Given the description of an element on the screen output the (x, y) to click on. 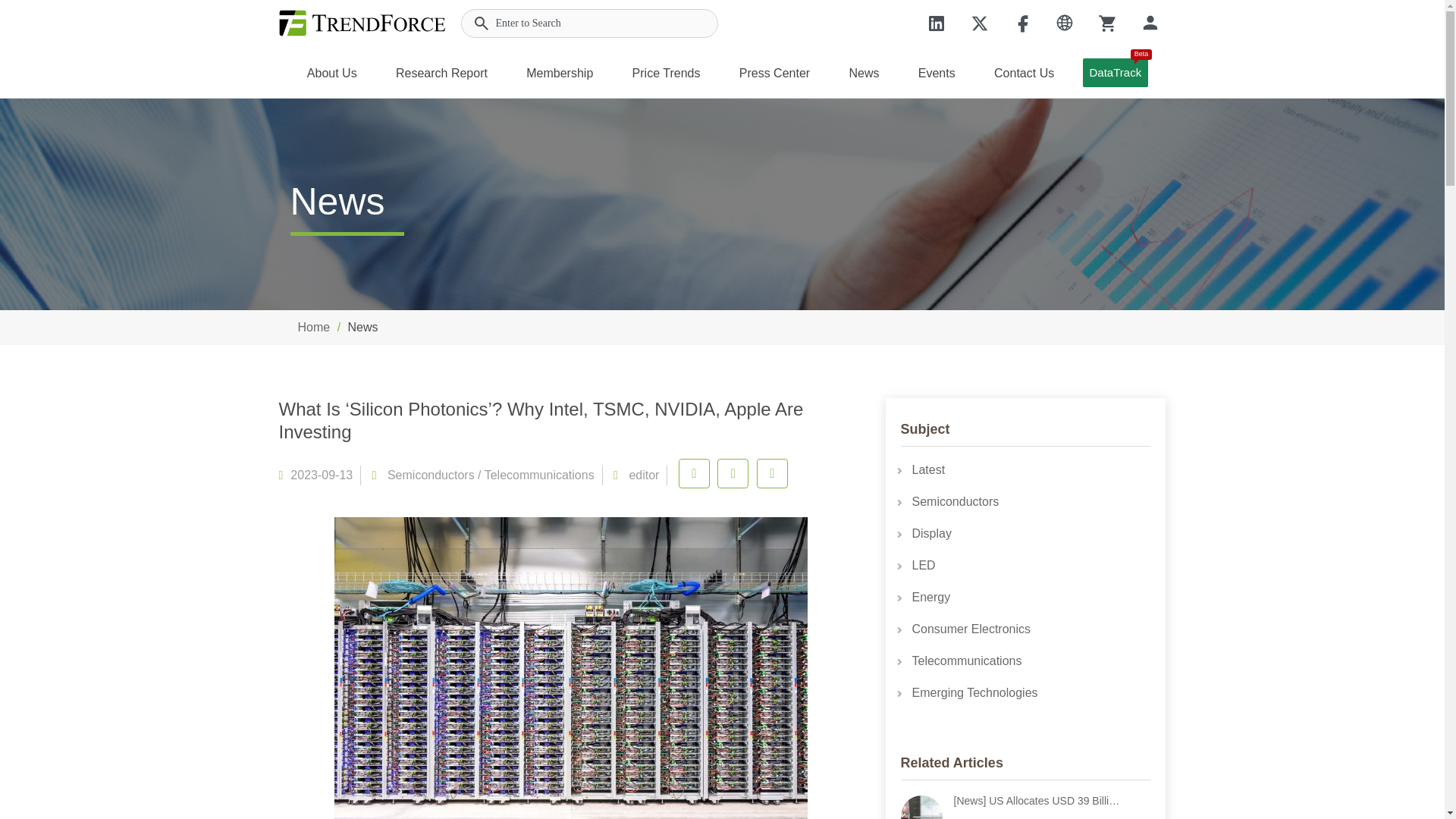
About Us (332, 71)
Research Report (441, 71)
